Given the description of an element on the screen output the (x, y) to click on. 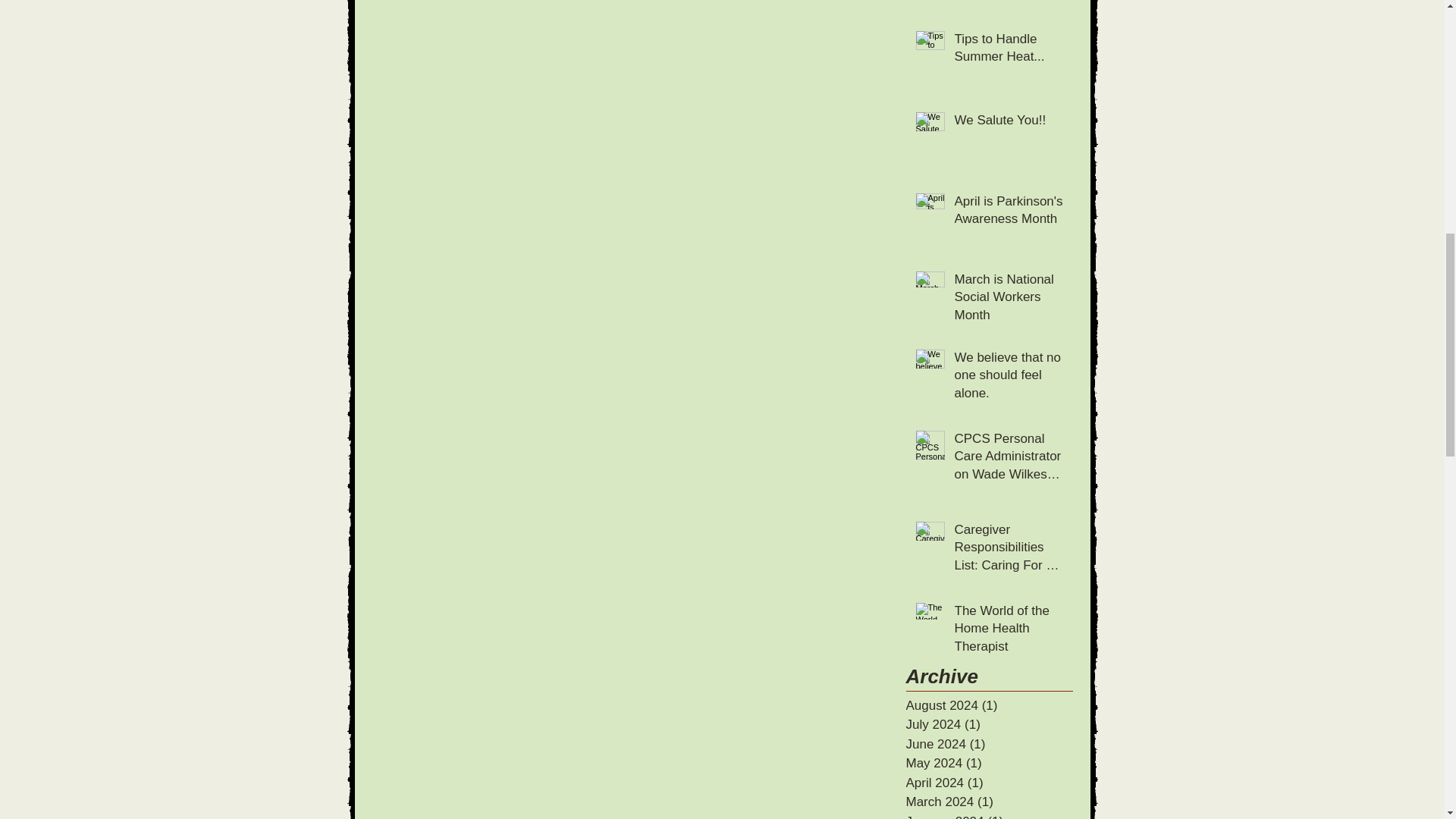
Tips to Handle Summer Heat... (1007, 51)
April is Parkinson's Awareness Month (1007, 213)
Caregiver Responsibilities List: Caring For My Parents (1007, 549)
March is National Social Workers Month (1007, 300)
We Salute You!! (1007, 122)
CPCS Personal Care Administrator on Wade Wilkes Morning Show (1007, 458)
Learn CPR: You Could Be a Lifesaver (1007, 4)
We believe that no one should feel alone. (1007, 378)
The World of the Home Health Therapist (1007, 631)
